Given the description of an element on the screen output the (x, y) to click on. 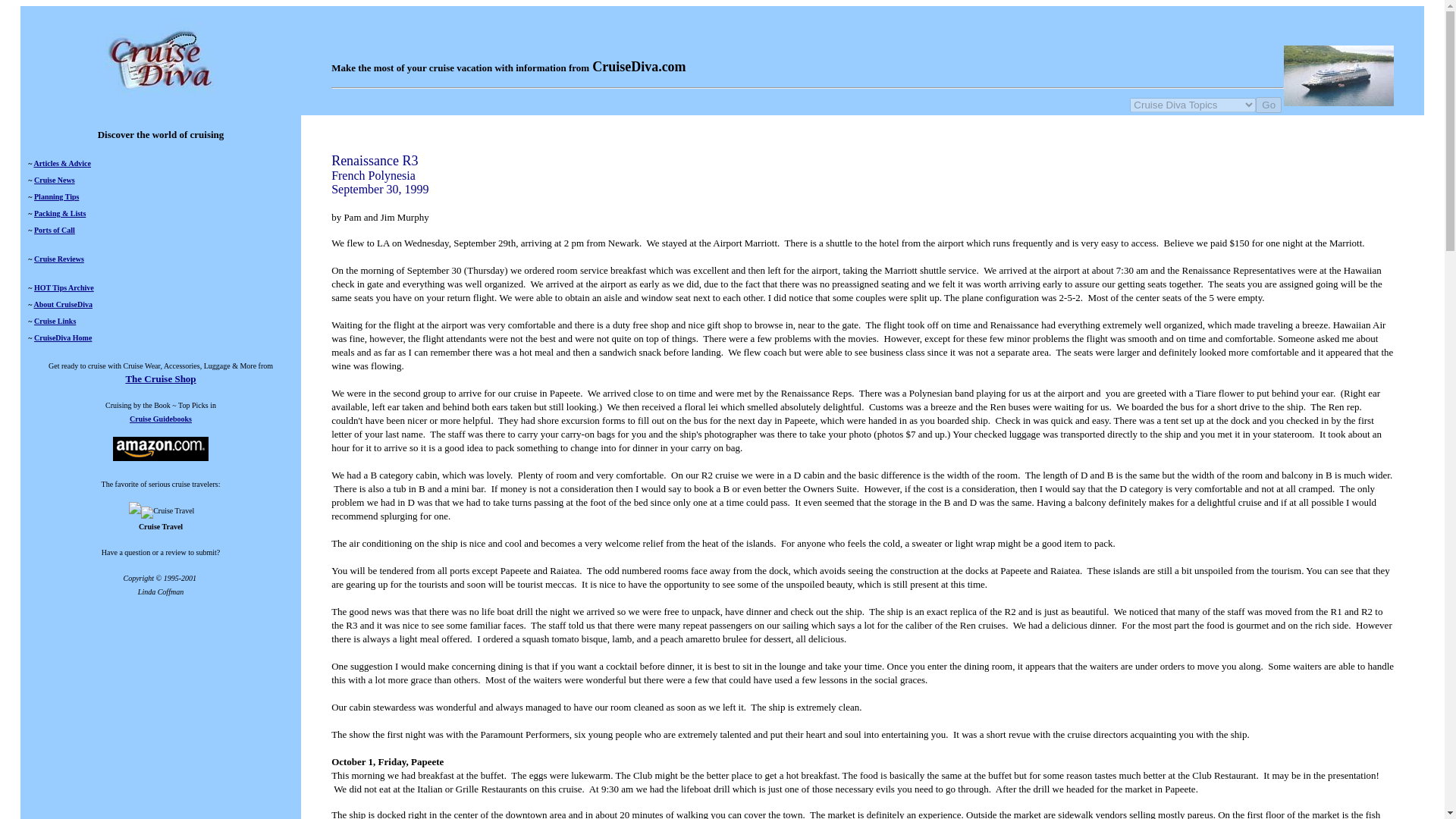
CruiseDiva Home (62, 337)
HOT Tips Archive (63, 287)
The Cruise Shop (160, 377)
Cruise Reviews (58, 258)
Cruise Links (54, 320)
Cruise News (54, 180)
Planning Tips (55, 196)
Go (1268, 105)
Ports of Call (54, 230)
About CruiseDiva (63, 304)
Cruise Guidebooks (160, 418)
